Given the description of an element on the screen output the (x, y) to click on. 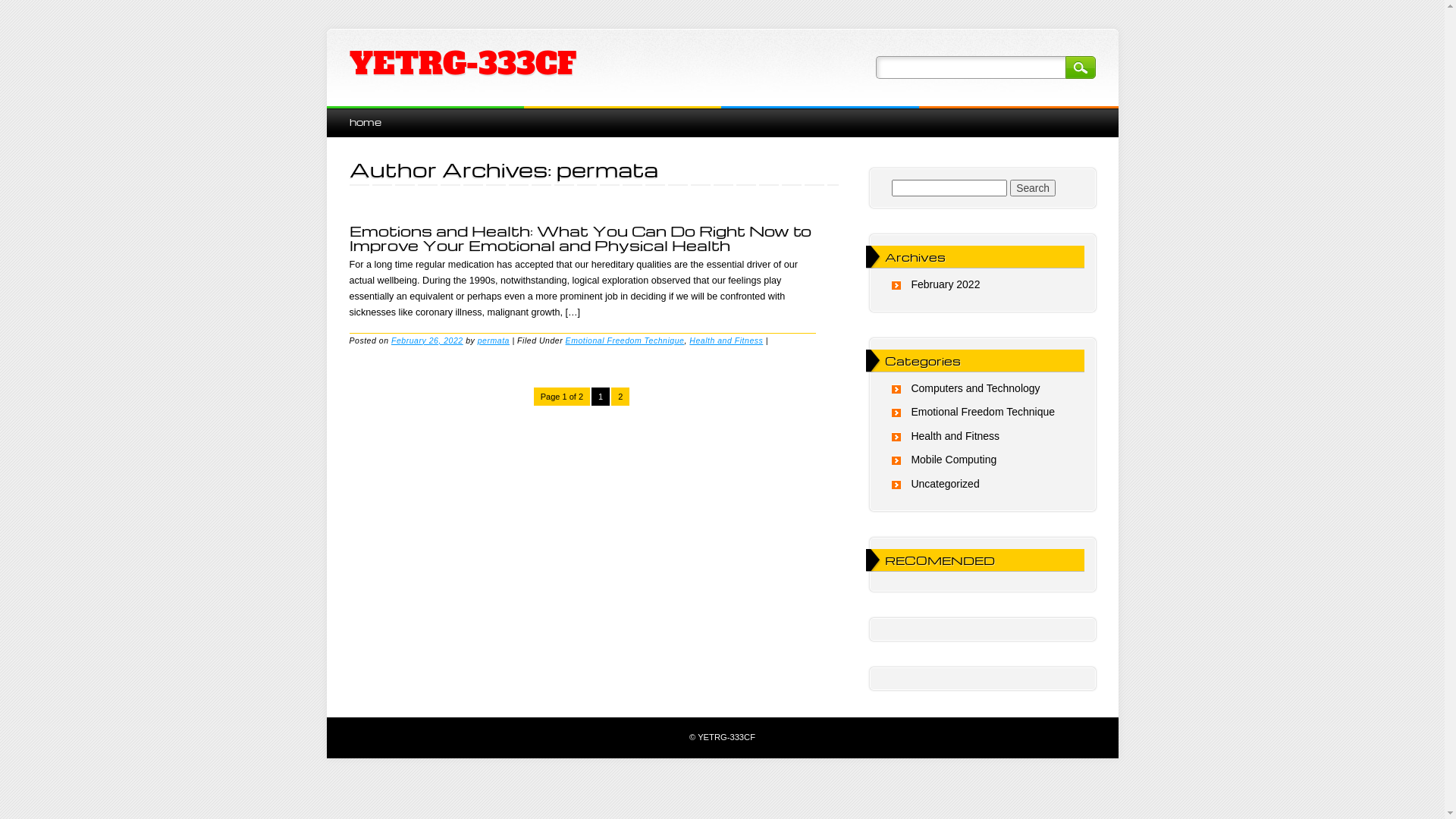
February 26, 2022 Element type: text (427, 339)
permata Element type: text (493, 339)
February 2022 Element type: text (944, 284)
Health and Fitness Element type: text (954, 435)
2 Element type: text (620, 396)
home Element type: text (364, 121)
YETRG-333CF Element type: text (461, 63)
Search Element type: text (1032, 187)
Health and Fitness Element type: text (725, 339)
Emotional Freedom Technique Element type: text (624, 339)
Mobile Computing Element type: text (953, 459)
Emotional Freedom Technique Element type: text (982, 411)
permata Element type: text (607, 168)
Skip to content Element type: text (361, 113)
Computers and Technology Element type: text (974, 388)
Uncategorized Element type: text (944, 483)
Search Element type: text (1079, 67)
